Given the description of an element on the screen output the (x, y) to click on. 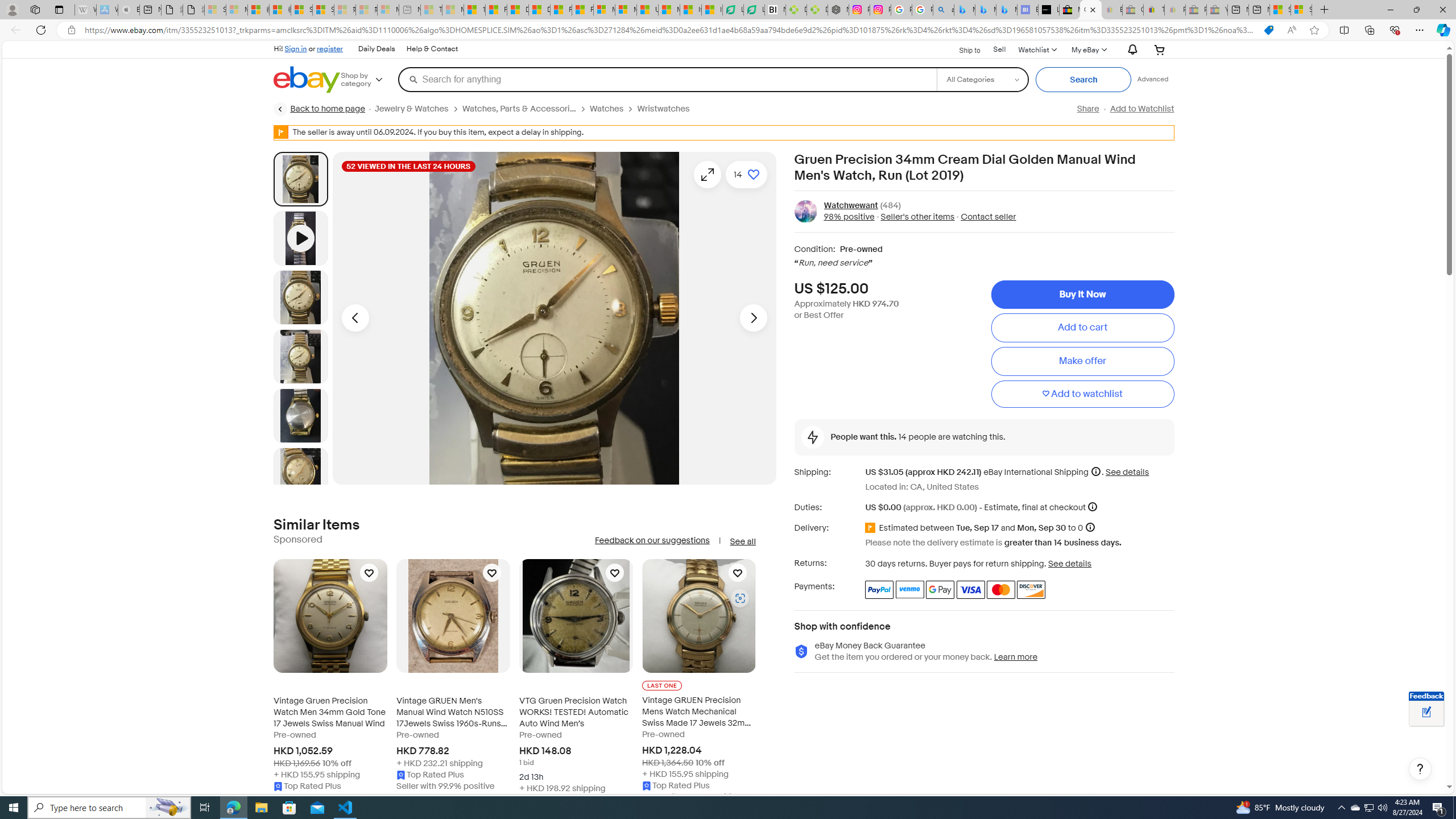
Jewelry & Watches (418, 108)
Threats and offensive language policy | eBay (1153, 9)
You have the best price! Shopping in Microsoft Edge (1268, 29)
US Heat Deaths Soared To Record High Last Year (646, 9)
Visa (970, 588)
Add to Watchlist (1141, 108)
